Given the description of an element on the screen output the (x, y) to click on. 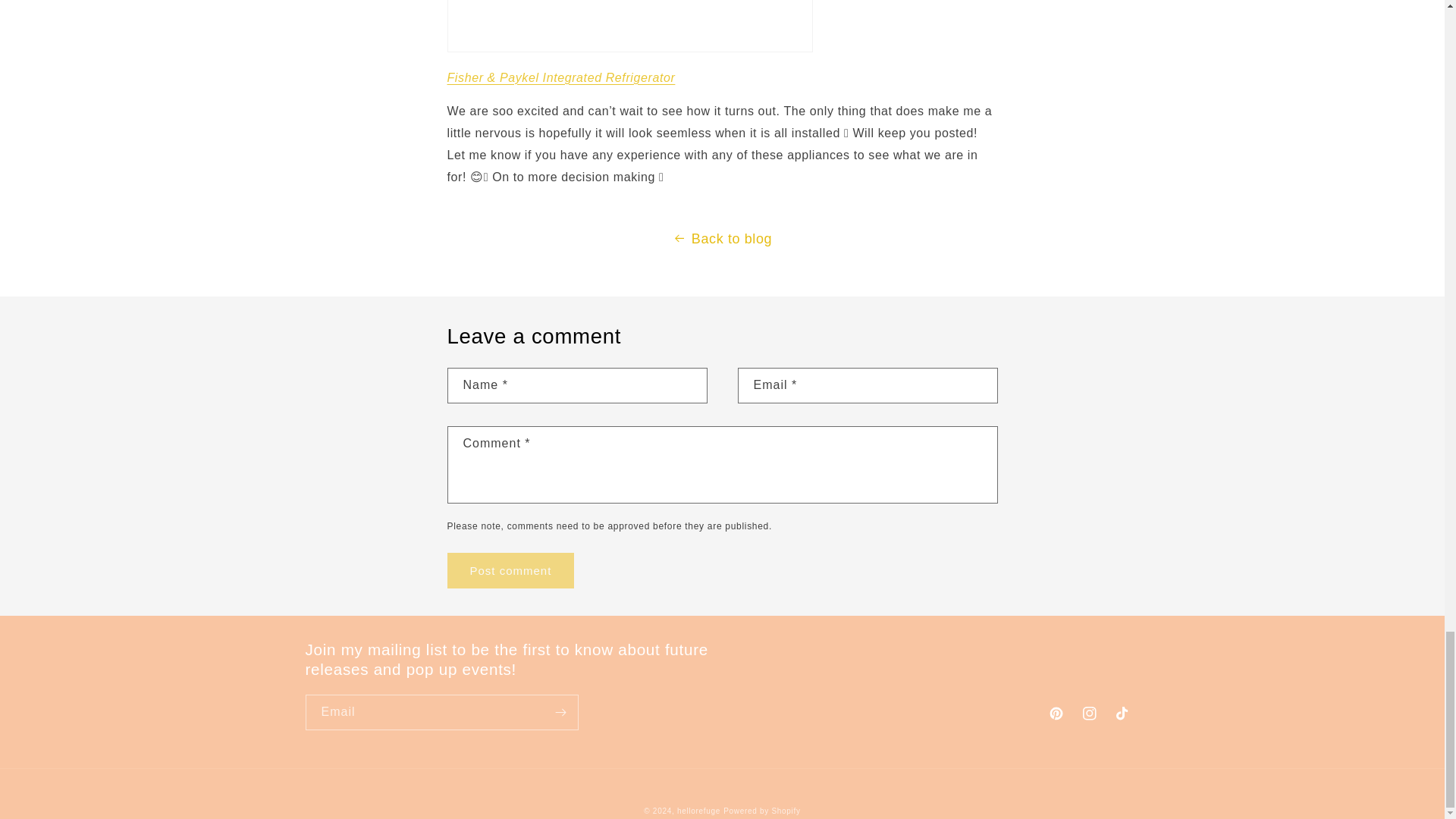
TikTok (1121, 713)
Post comment (510, 570)
hellorefuge (698, 810)
Instagram (1088, 713)
Post comment (510, 570)
Powered by Shopify (761, 810)
Pinterest (1055, 713)
